Given the description of an element on the screen output the (x, y) to click on. 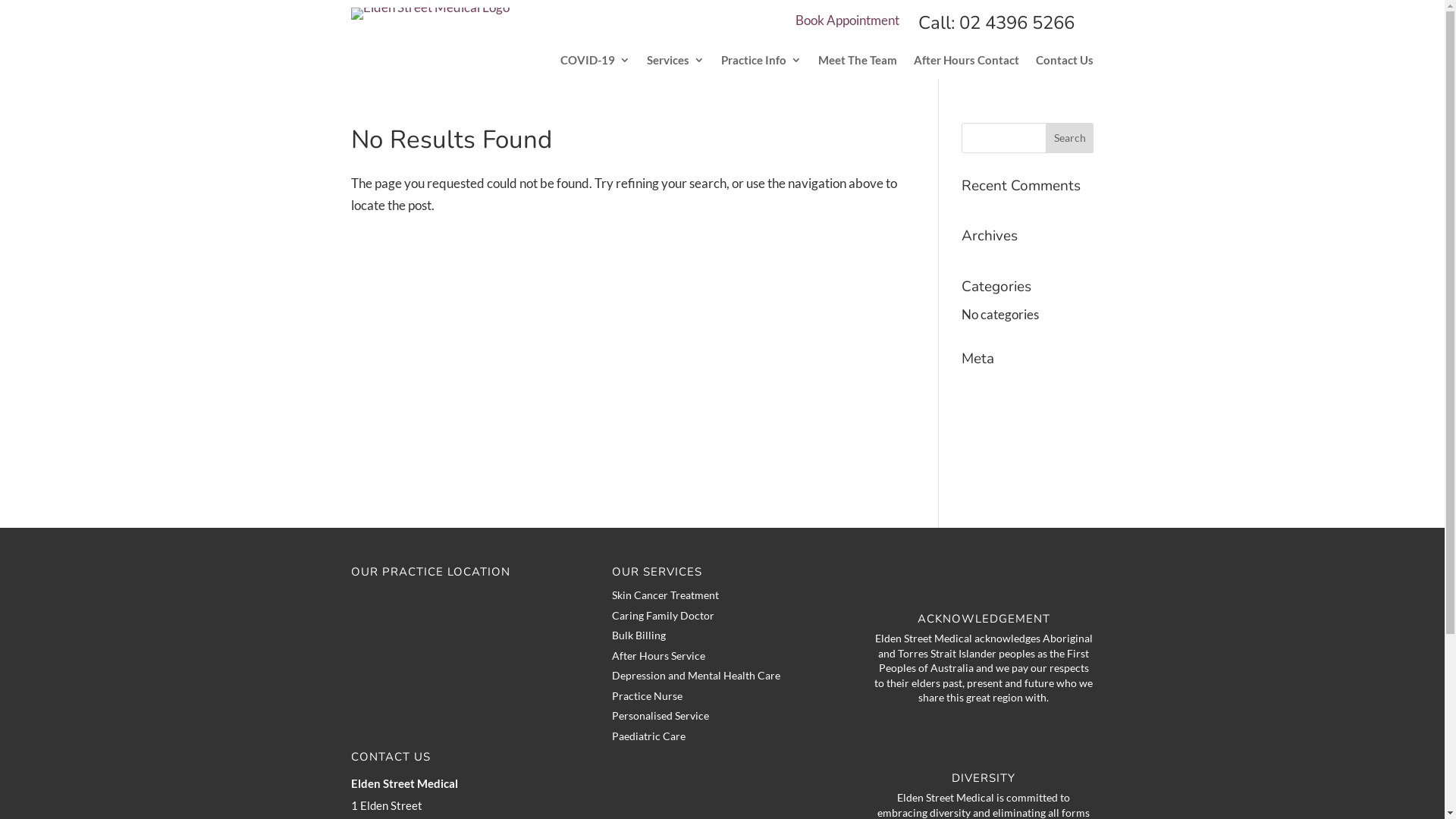
elden-street-medical-logo Element type: hover (429, 13)
After Hours Contact Element type: text (966, 62)
Search Element type: text (1069, 137)
Practice Info Element type: text (761, 62)
Entries feed Element type: text (995, 415)
Book Appointment Element type: text (847, 20)
WordPress.org Element type: text (1003, 472)
Meet The Team Element type: text (857, 62)
Log in Element type: text (977, 387)
Contact Us Element type: text (1064, 62)
Comments feed Element type: text (1005, 443)
COVID-19 Element type: text (595, 62)
Services Element type: text (675, 62)
